Given the description of an element on the screen output the (x, y) to click on. 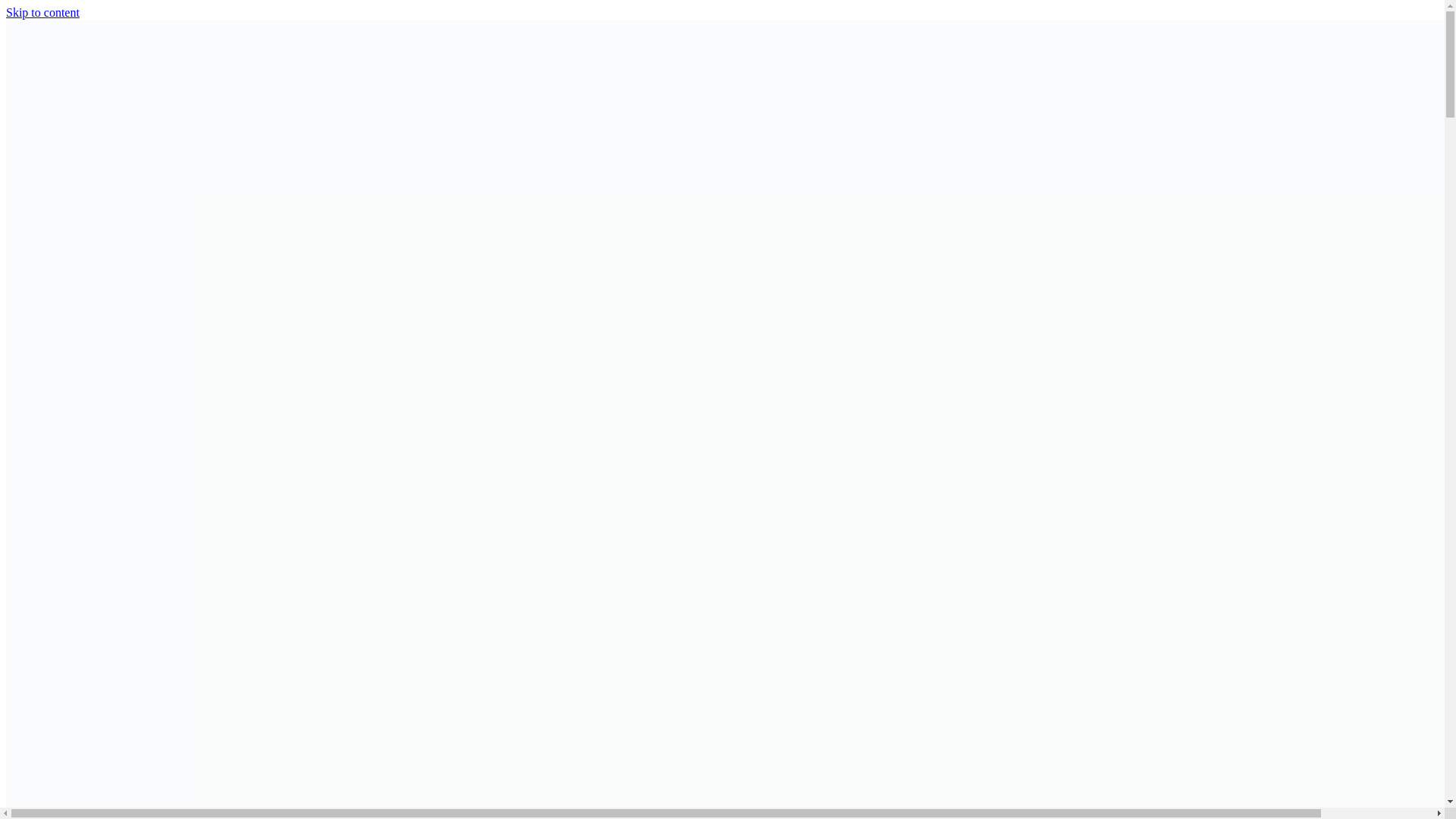
Skip to content (42, 11)
